Given the description of an element on the screen output the (x, y) to click on. 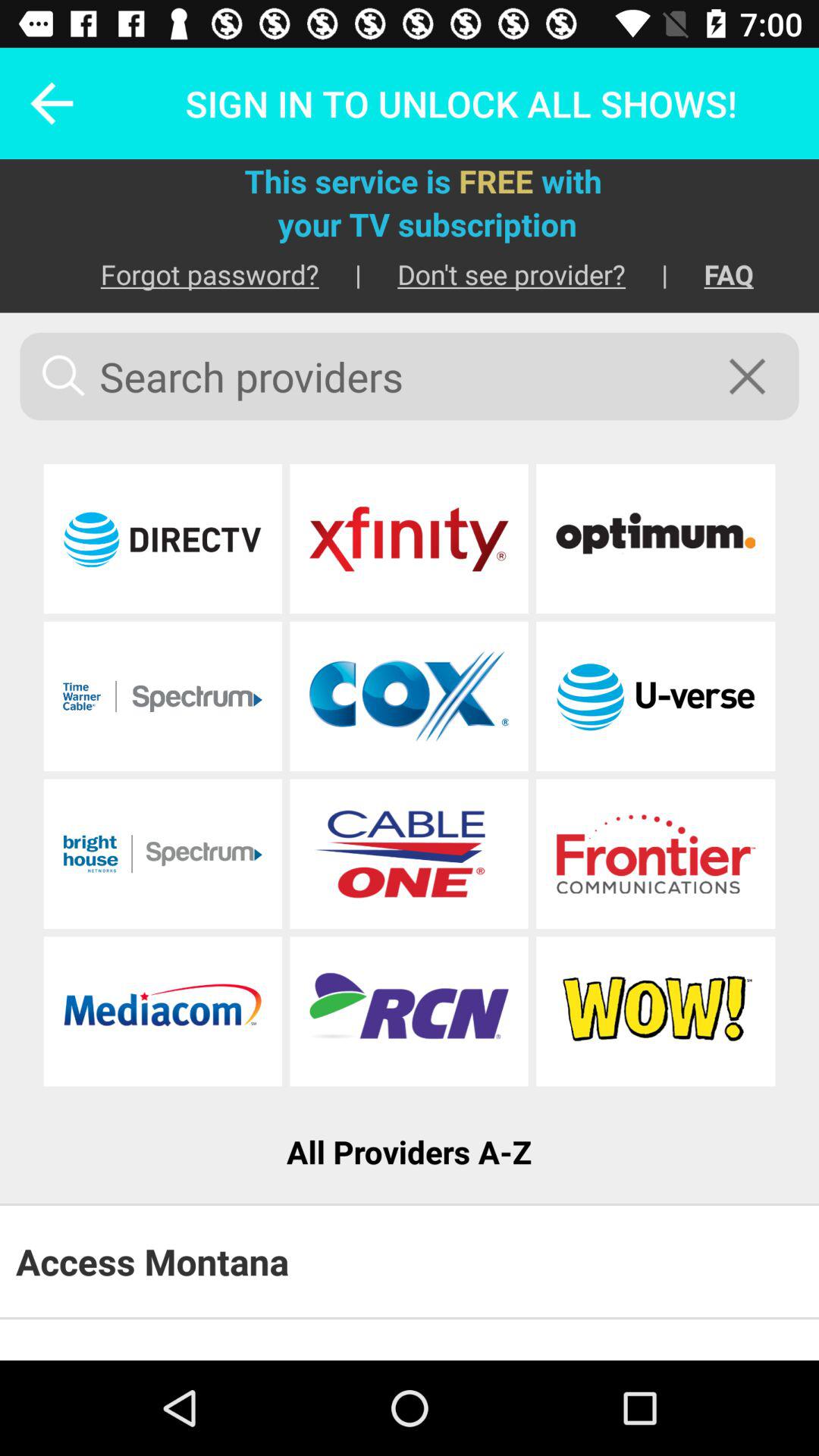
launch item below the your tv subscription item (191, 273)
